Given the description of an element on the screen output the (x, y) to click on. 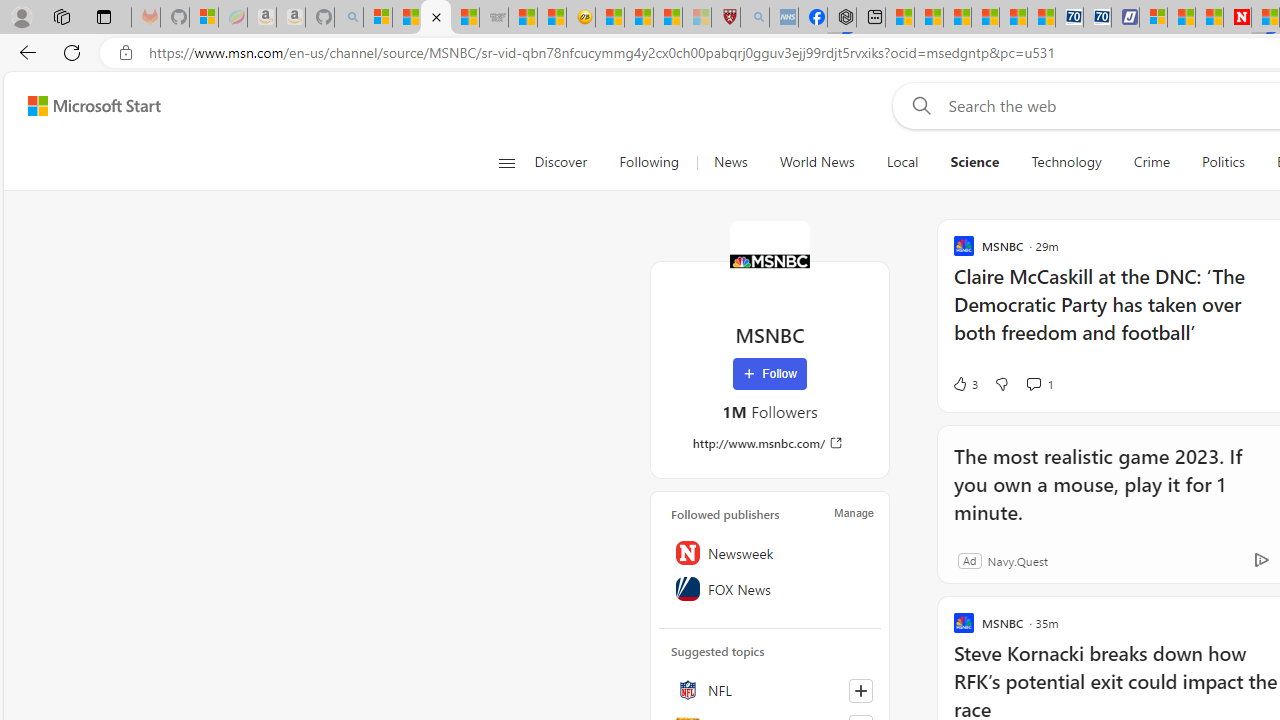
Class: button-glyph (505, 162)
Recipes - MSN (610, 17)
Newsweek (770, 552)
3 Like (964, 384)
